Given the description of an element on the screen output the (x, y) to click on. 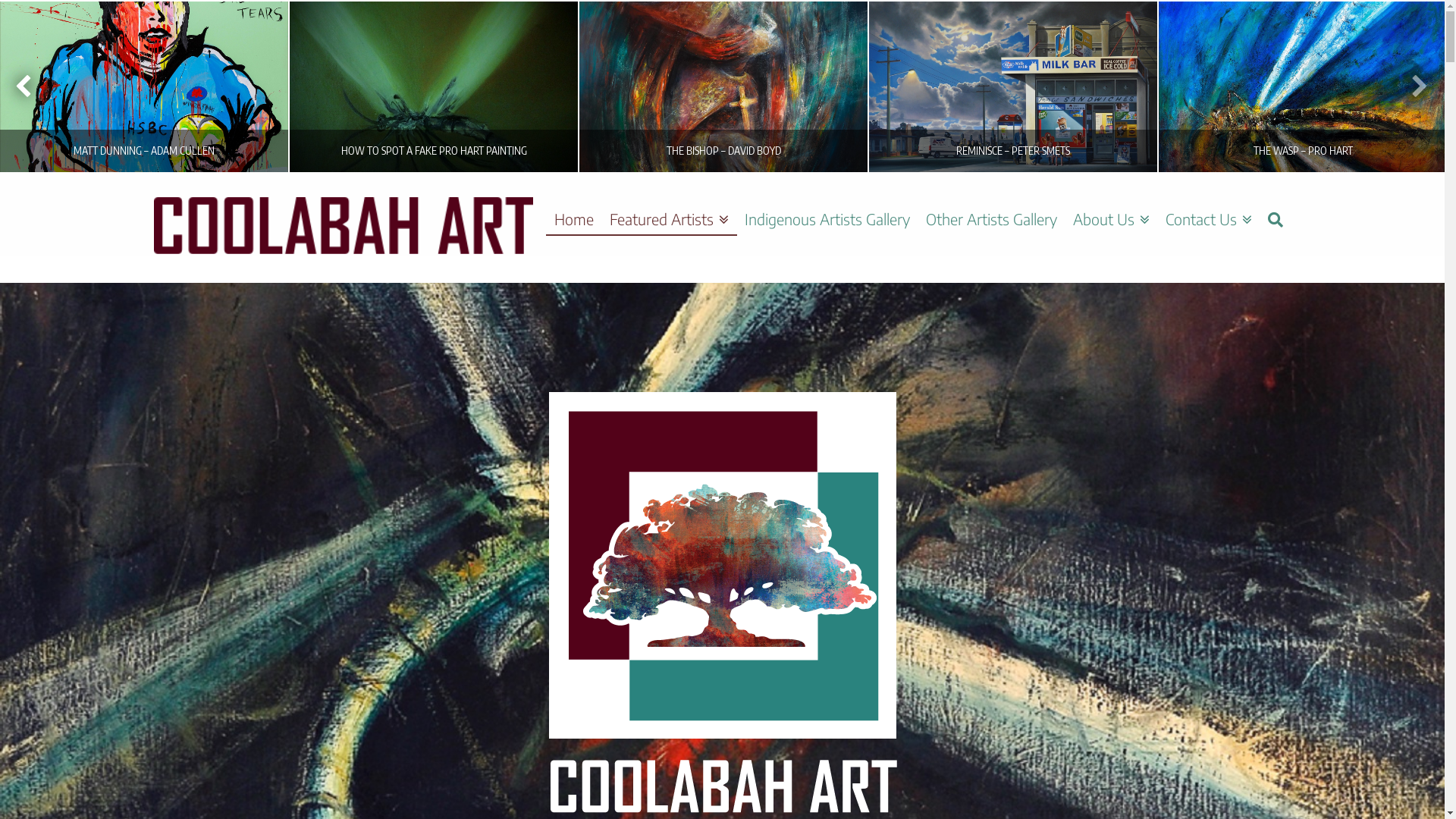
About Us Element type: text (1110, 203)
Contact Us Element type: text (1208, 203)
Featured Artists Element type: text (669, 203)
HOW TO SPOT A FAKE PRO HART PAINTING Element type: text (432, 86)
Home Element type: text (574, 203)
Indigenous Artists Gallery Element type: text (827, 203)
Next Element type: text (1412, 86)
Other Artists Gallery Element type: text (990, 203)
